Given the description of an element on the screen output the (x, y) to click on. 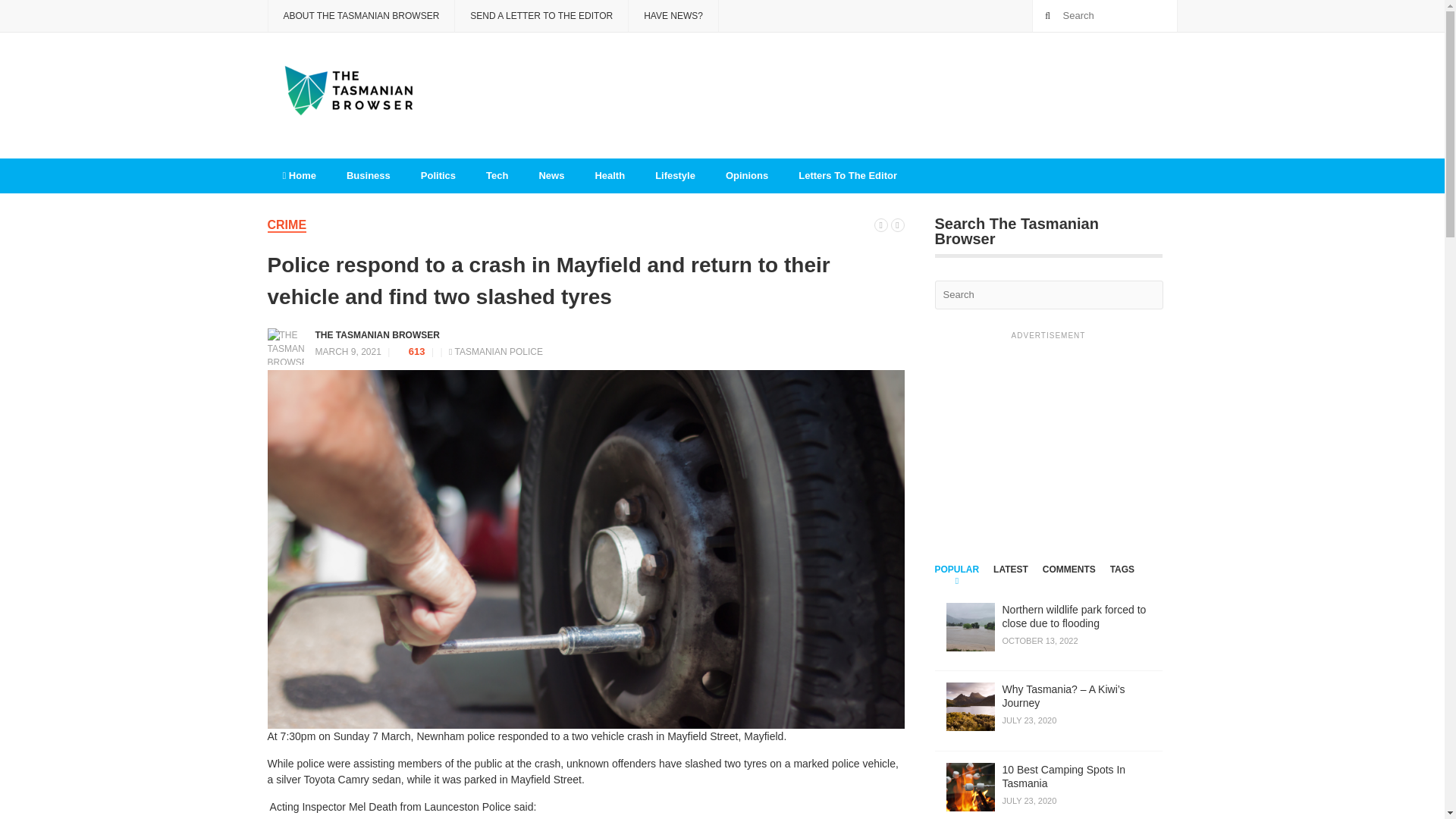
Health (609, 175)
Popular (956, 577)
Next Post (896, 224)
Politics (438, 175)
Lifestyle (675, 175)
POPULAR (956, 577)
Home (298, 175)
COMMENTS (1069, 577)
TASMANIAN POLICE (497, 350)
CRIME (285, 225)
